Given the description of an element on the screen output the (x, y) to click on. 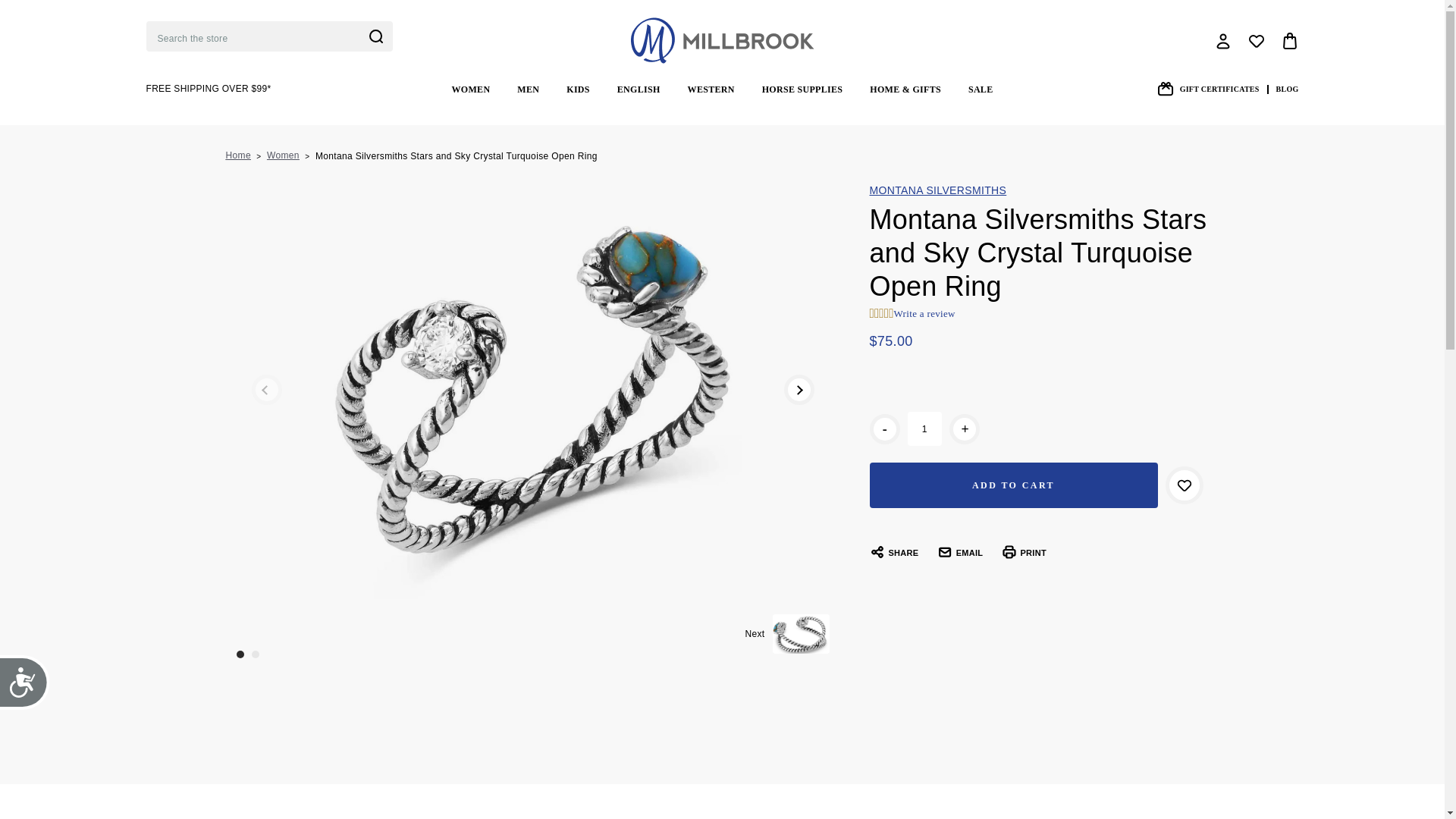
Increase Quantity (964, 429)
MEN (528, 89)
Add to Cart (1013, 484)
ACCESSIBILITY (31, 689)
Product Quantity (924, 428)
Facebook (893, 552)
Add to Wishlist (1183, 485)
Email (960, 552)
SEARCH (375, 36)
